Given the description of an element on the screen output the (x, y) to click on. 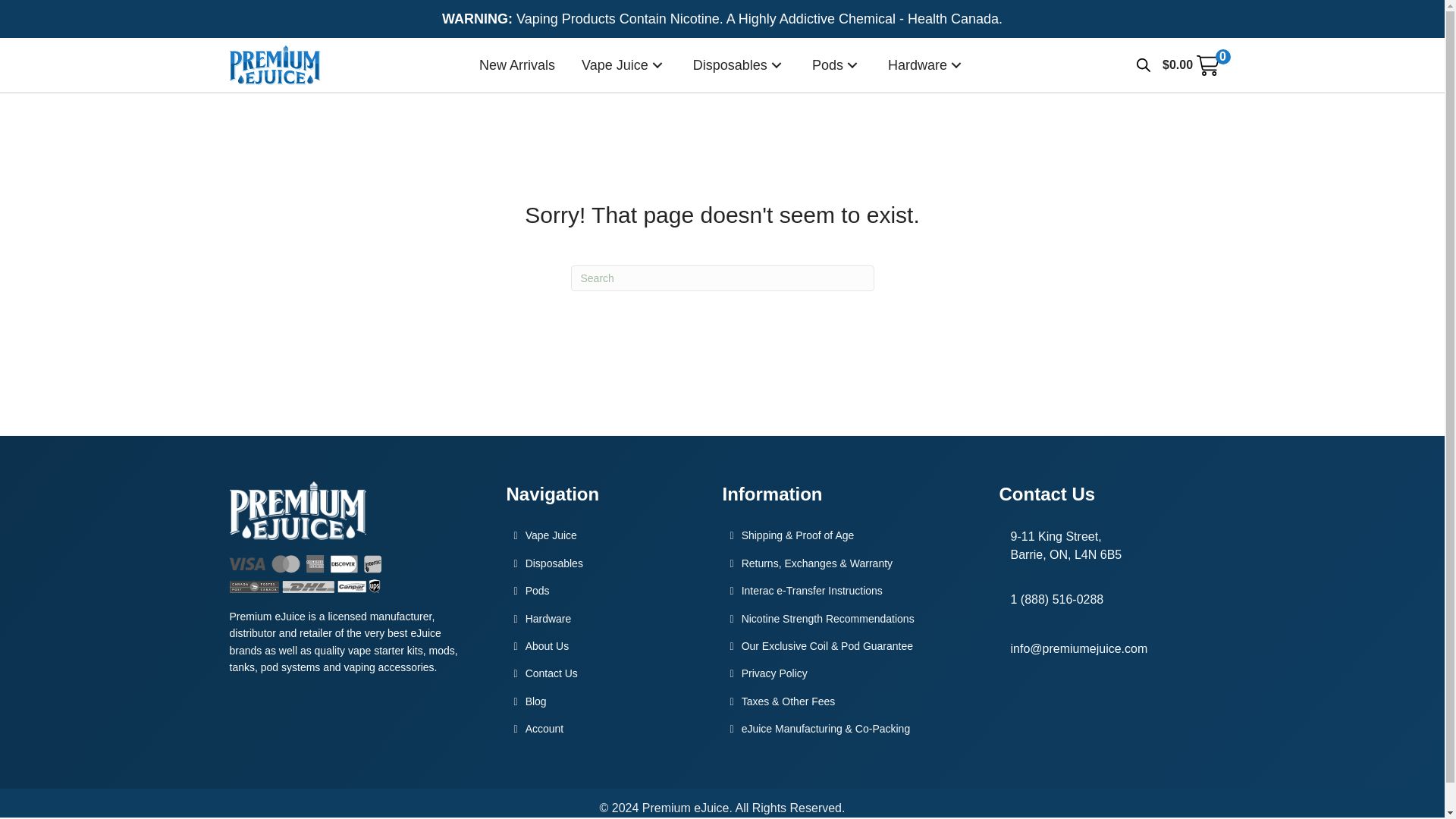
Premium eJuice Logo (274, 64)
eJuice (623, 64)
